Given the description of an element on the screen output the (x, y) to click on. 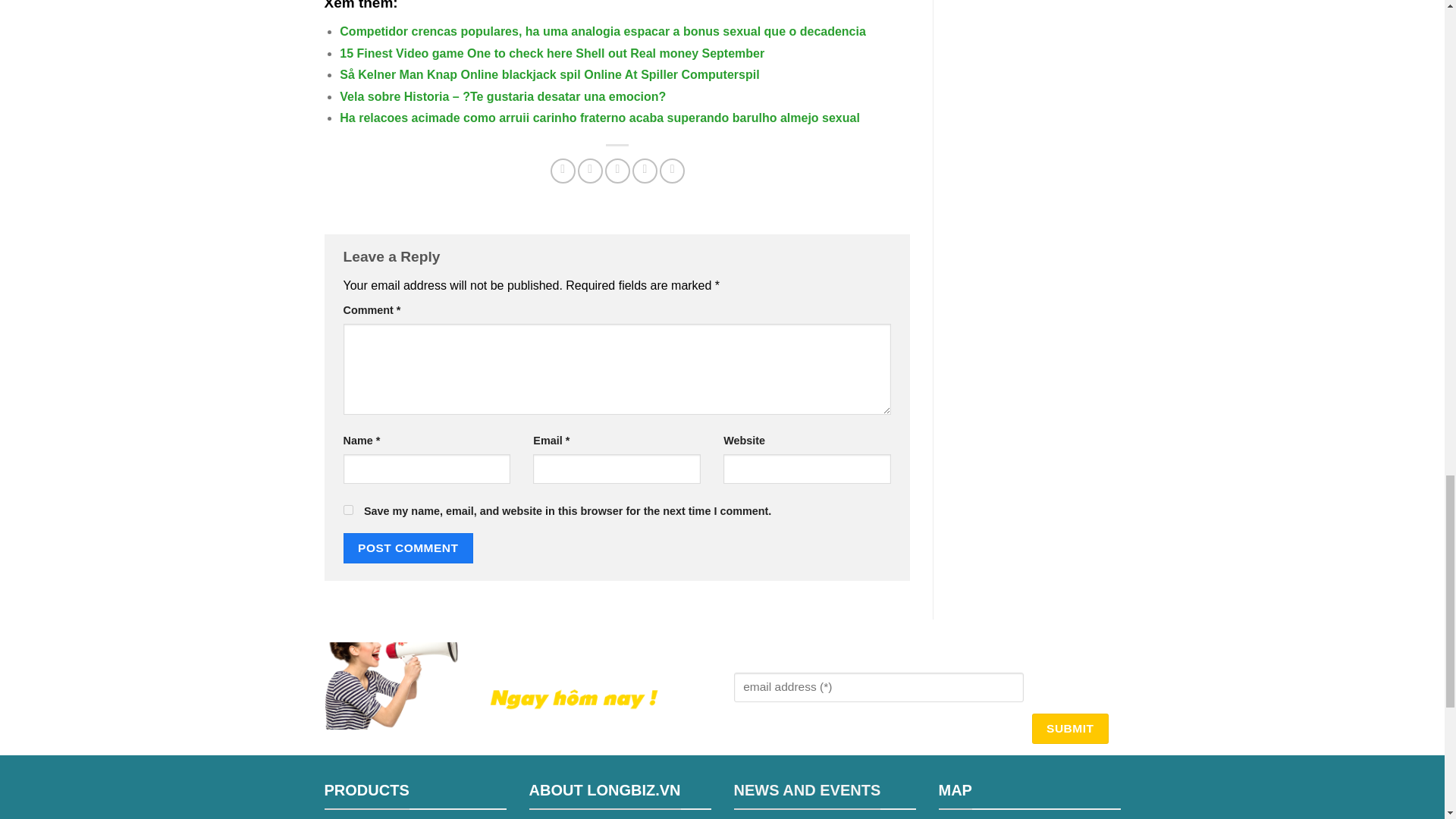
yes (347, 510)
submit (1069, 727)
Post Comment (407, 547)
